Given the description of an element on the screen output the (x, y) to click on. 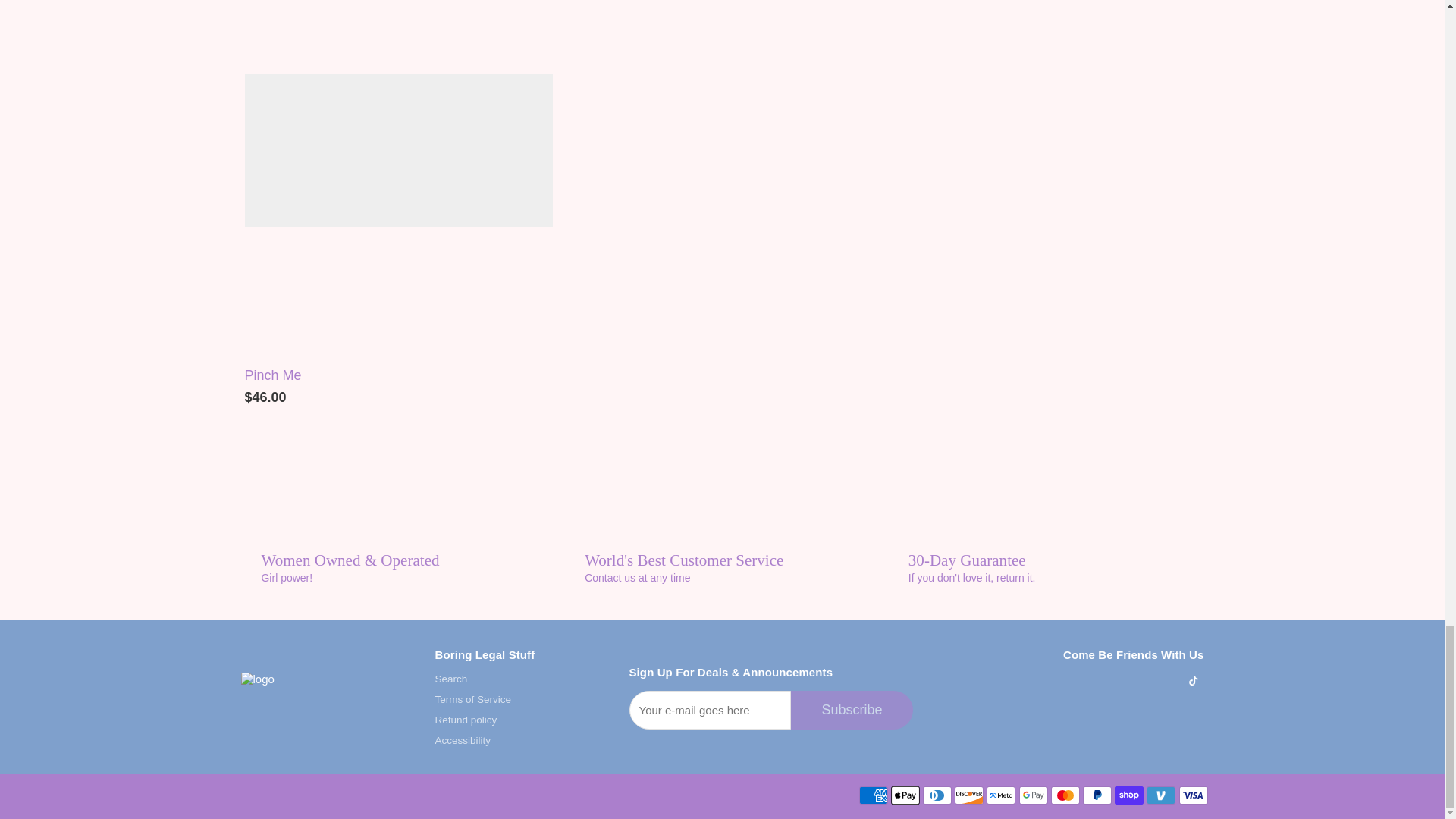
Venmo (1160, 795)
PayPal (1097, 795)
Google Pay (1033, 795)
Apple Pay (905, 795)
Meta Pay (1000, 795)
Visa (1192, 795)
Diners Club (937, 795)
Mastercard (1065, 795)
Shop Pay (1128, 795)
Discover (969, 795)
